Given the description of an element on the screen output the (x, y) to click on. 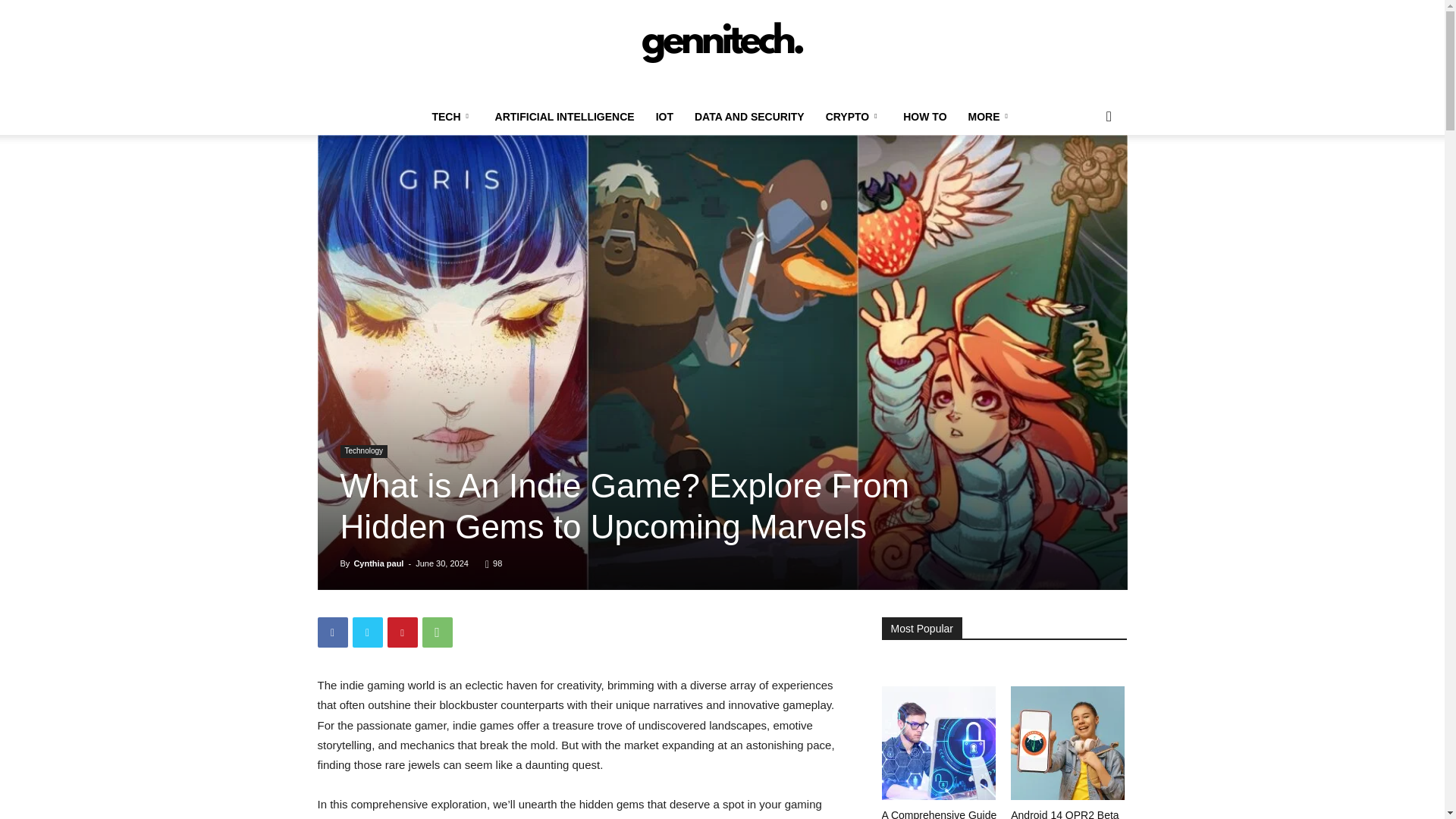
IOT (664, 116)
gennitech logo (721, 49)
MORE (990, 116)
CRYPTO (854, 116)
WhatsApp (436, 632)
Facebook (332, 632)
Pinterest (401, 632)
Twitter (366, 632)
HOW TO (924, 116)
DATA AND SECURITY (749, 116)
ARTIFICIAL INTELLIGENCE (564, 116)
TECH (451, 116)
